Given the description of an element on the screen output the (x, y) to click on. 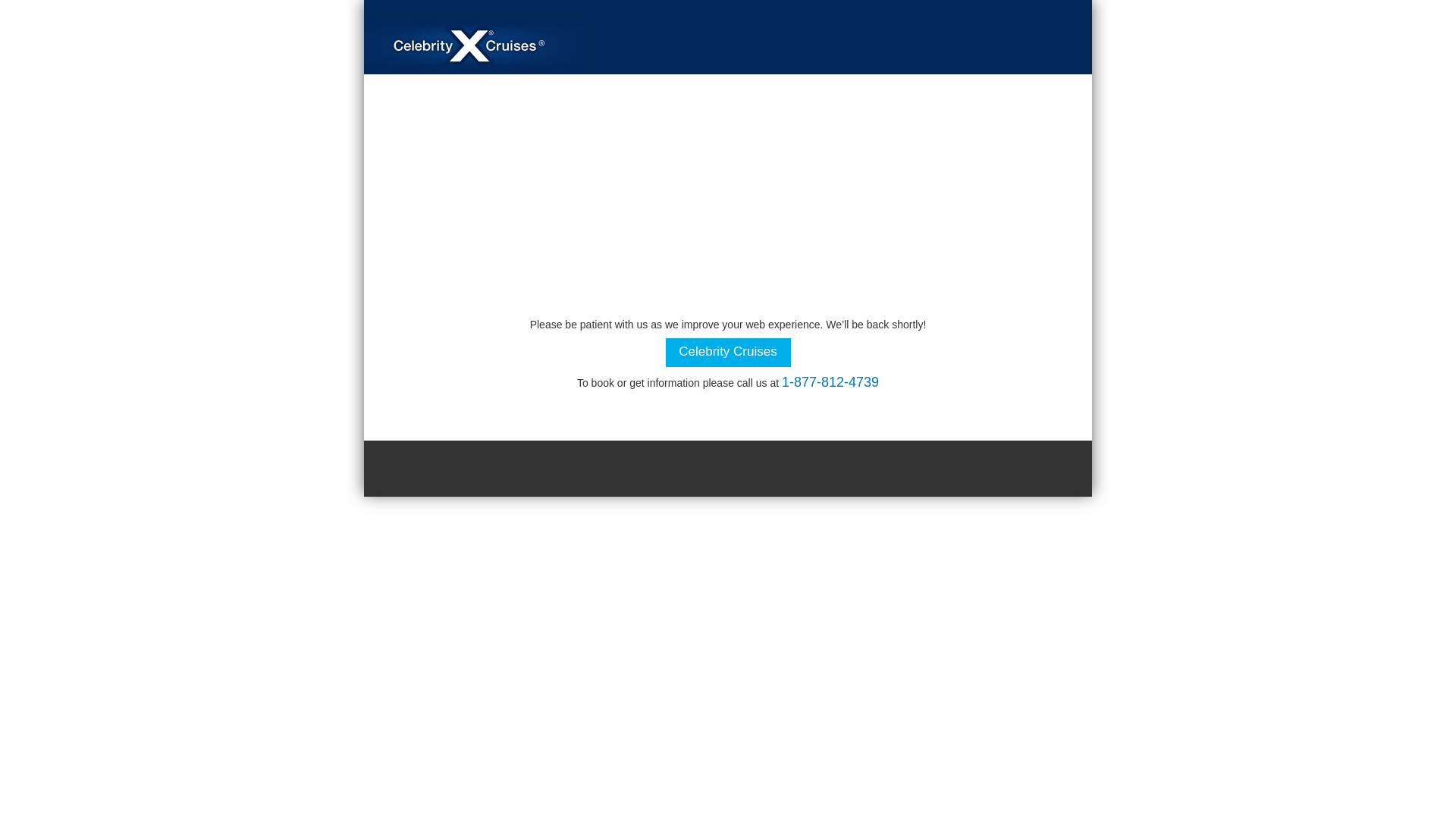
Celebrity Cruises (727, 352)
